Given the description of an element on the screen output the (x, y) to click on. 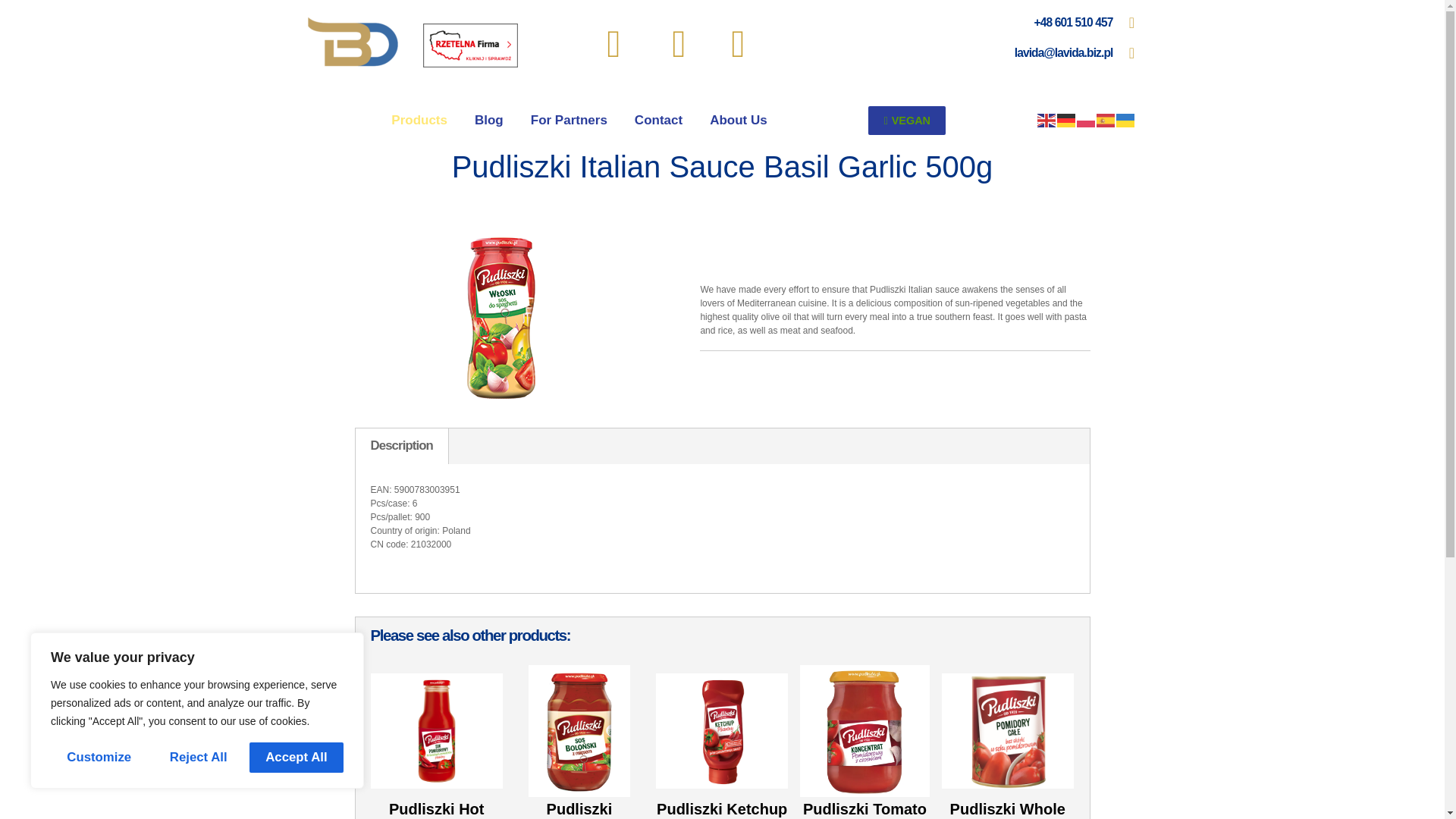
Reject All (197, 757)
Ukrainian (1125, 120)
Spanish (1106, 120)
Customize (98, 757)
German (1067, 120)
Polish (1086, 120)
Products (419, 120)
Accept All (295, 757)
English (1046, 120)
